Given the description of an element on the screen output the (x, y) to click on. 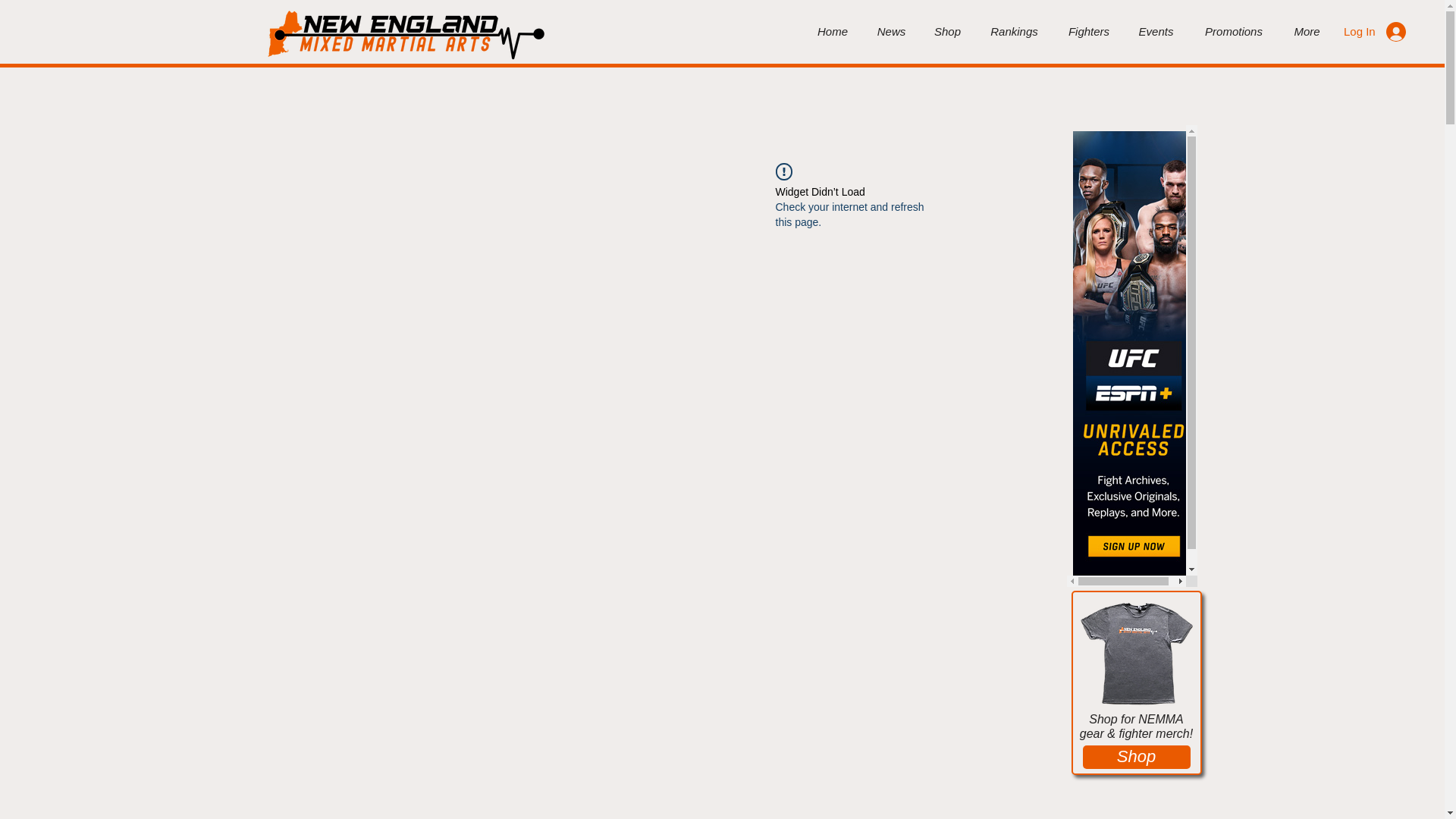
Events (1156, 31)
Home (832, 31)
Fighters (1088, 31)
Log In (1374, 30)
News (891, 31)
Rankings (1013, 31)
Shop (1137, 757)
Shop (947, 31)
Promotions (1233, 31)
Embedded Content (1130, 356)
